Given the description of an element on the screen output the (x, y) to click on. 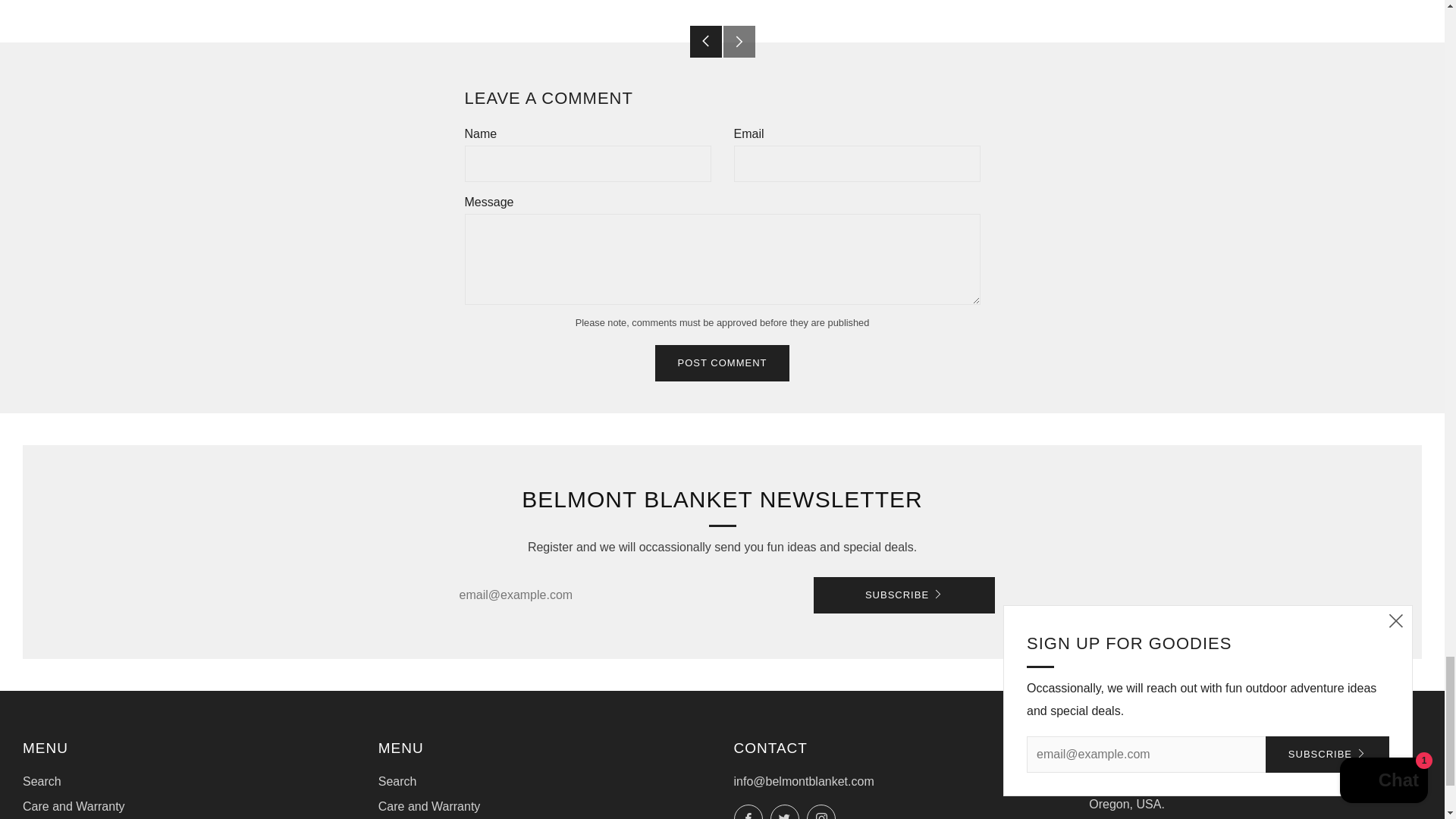
Post comment (722, 362)
